Given the description of an element on the screen output the (x, y) to click on. 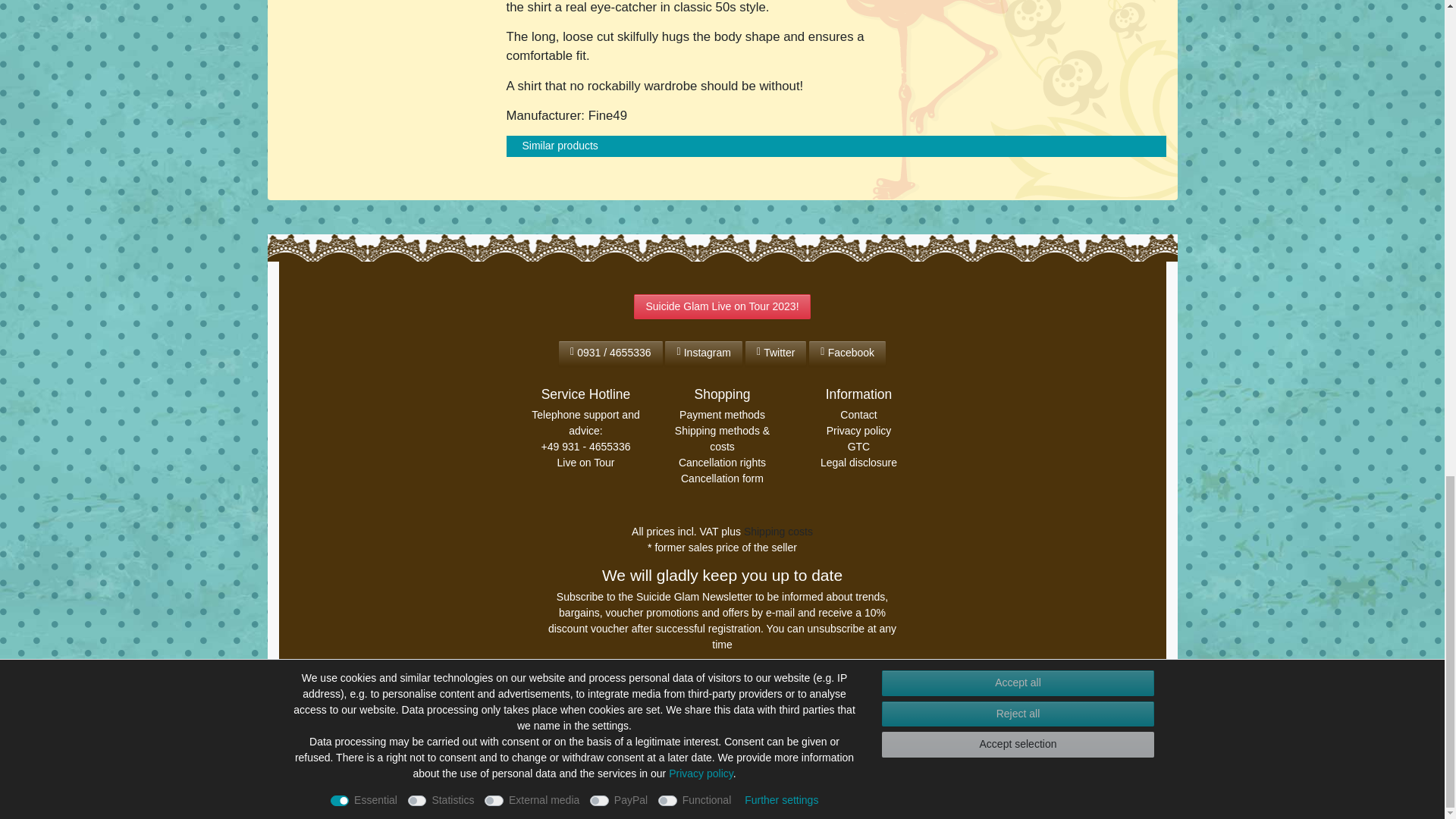
on (551, 713)
